Given the description of an element on the screen output the (x, y) to click on. 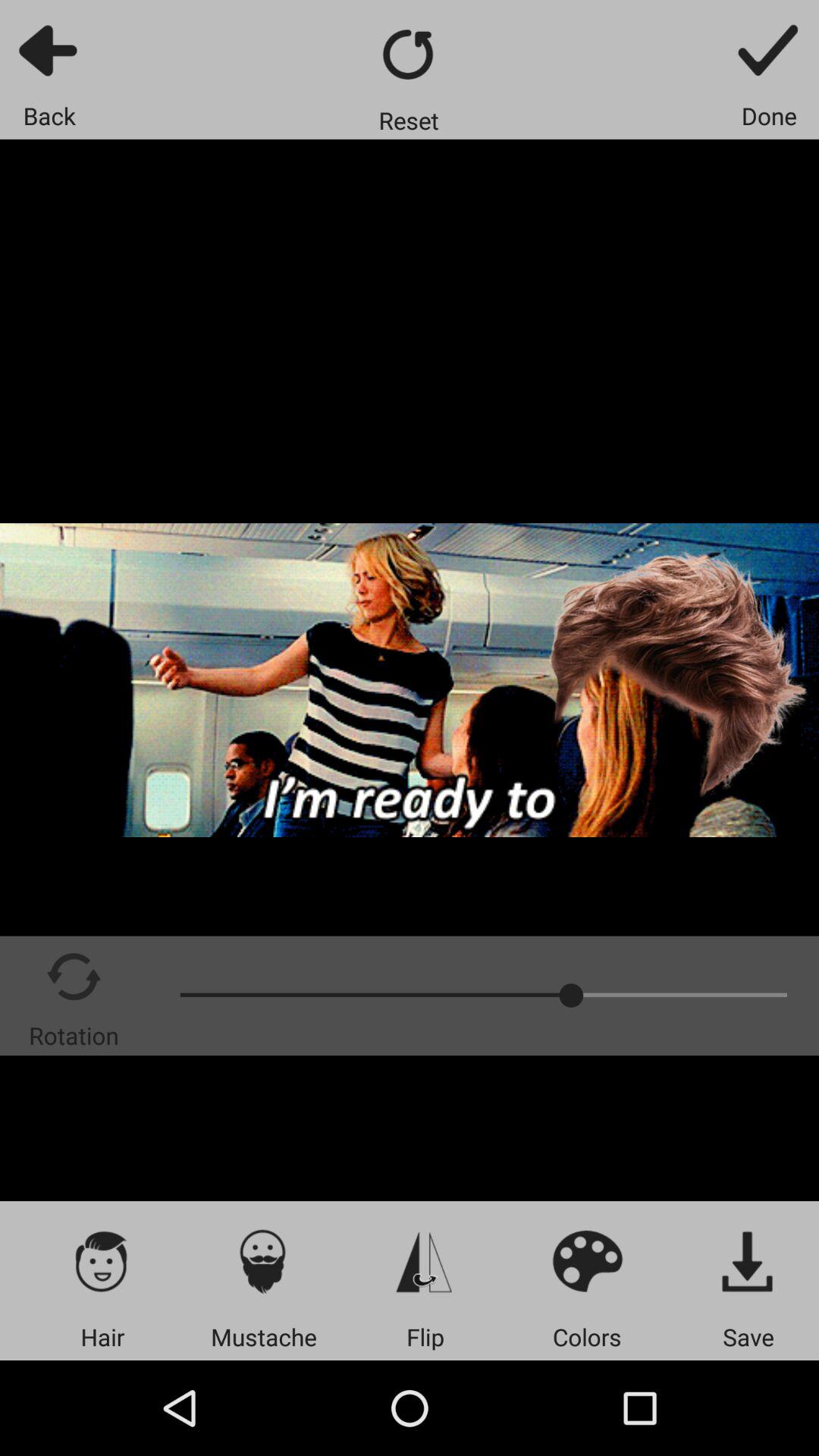
confirm done (769, 49)
